Given the description of an element on the screen output the (x, y) to click on. 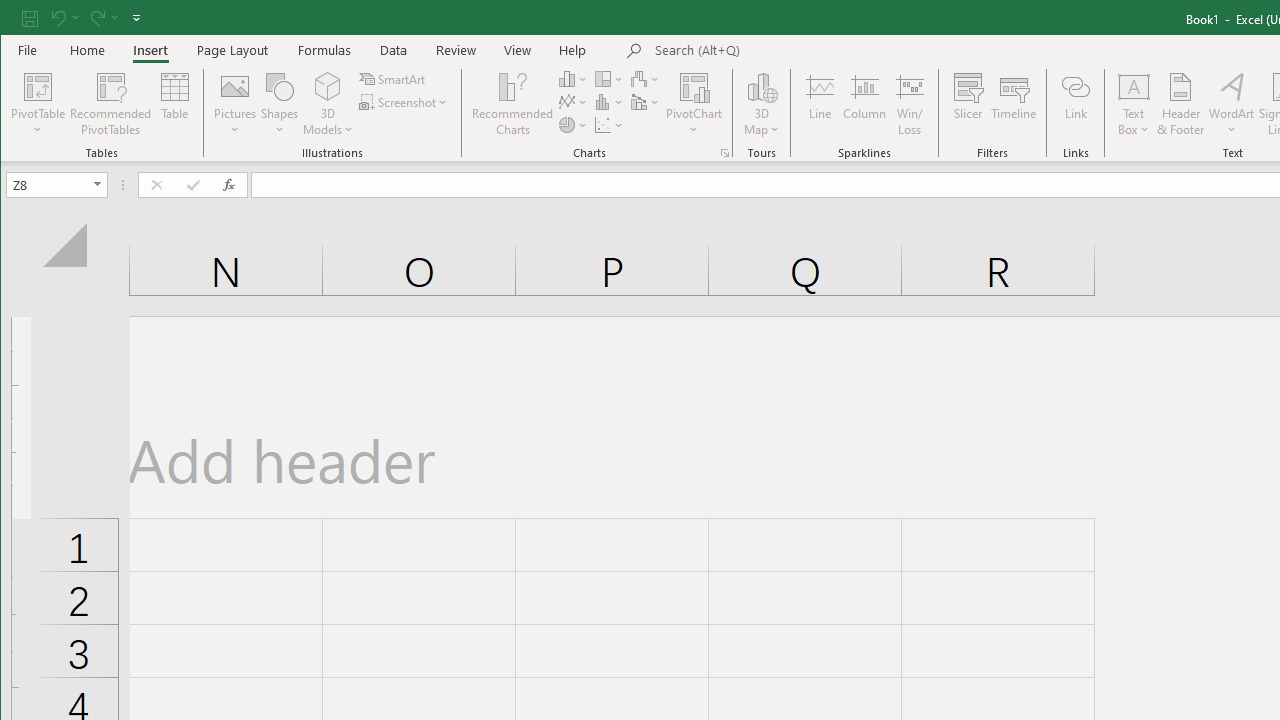
Insert Hierarchy Chart (609, 78)
Insert Line or Area Chart (573, 101)
Pictures (235, 104)
Screenshot (404, 101)
Table (174, 104)
Slicer... (968, 104)
Shapes (279, 104)
